Given the description of an element on the screen output the (x, y) to click on. 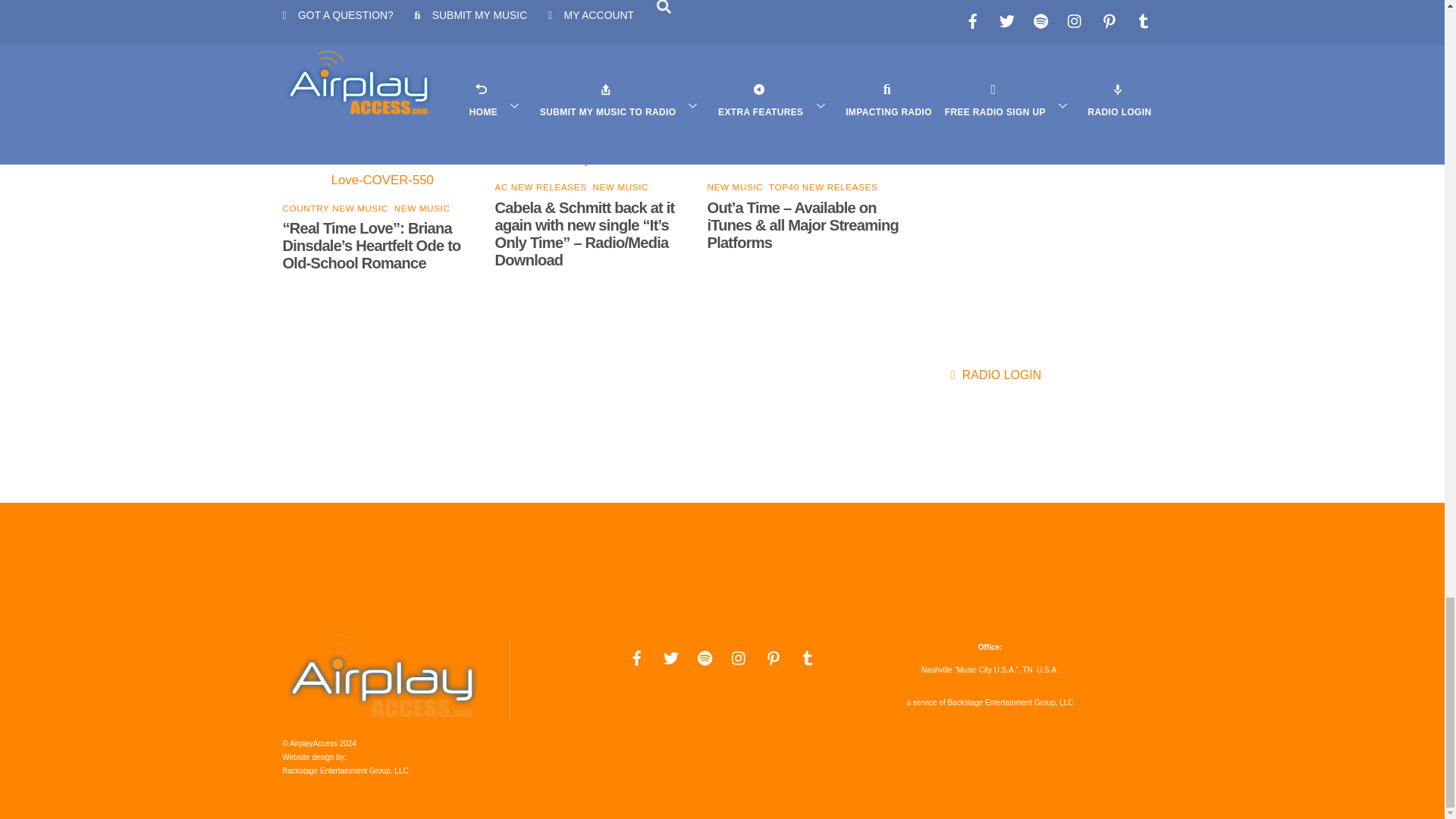
Briana Dinsdale-Real-Time-Love-COVER-550 (381, 169)
J Panda-Out-a-Time cover (807, 159)
It's Only Time cover (594, 159)
